Given the description of an element on the screen output the (x, y) to click on. 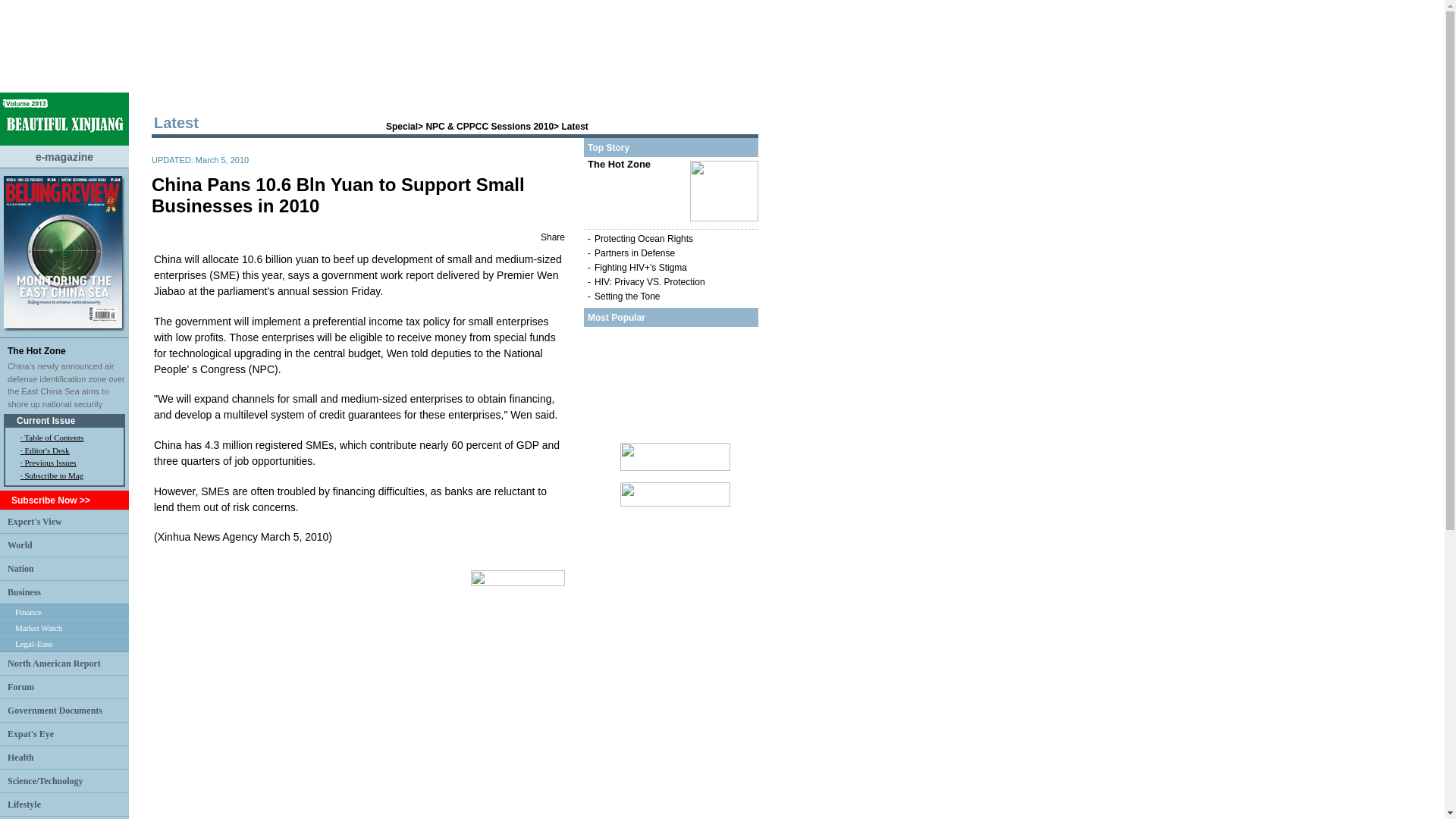
e-magazine (63, 155)
Finance (28, 611)
Health (20, 757)
Lifestyle (23, 804)
Editor's Desk (46, 450)
Government Documents (54, 710)
Expat's Eye (30, 733)
Table of Contents (53, 437)
Previous Issues (49, 461)
Expert's View (34, 520)
Market Watch (38, 627)
World (19, 544)
Current Issue (45, 420)
Legal-Ease (33, 643)
